Given the description of an element on the screen output the (x, y) to click on. 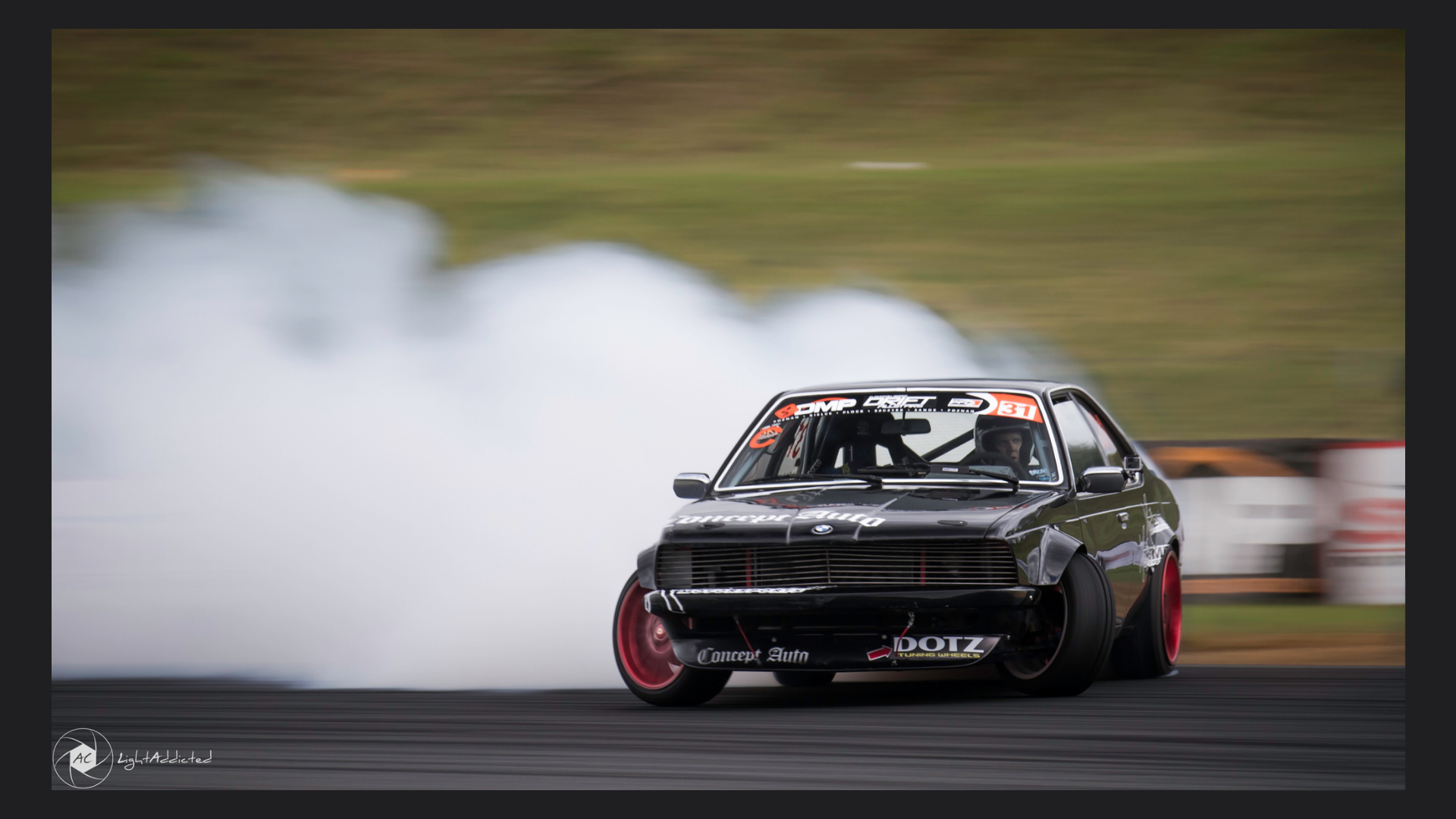
HOME Element type: text (674, 69)
ACLIGHTADDICTED Element type: text (138, 84)
BROWSE Element type: text (722, 69)
SmugMug Element type: hover (59, 22)
Share Gallery Element type: hover (1241, 204)
BUY PHOTOS Element type: text (1363, 204)
Search "POZNAN Finals 2013" for photos Element type: hover (1380, 22)
Slideshow Element type: hover (1279, 204)
SEARCH Element type: text (776, 69)
